Given the description of an element on the screen output the (x, y) to click on. 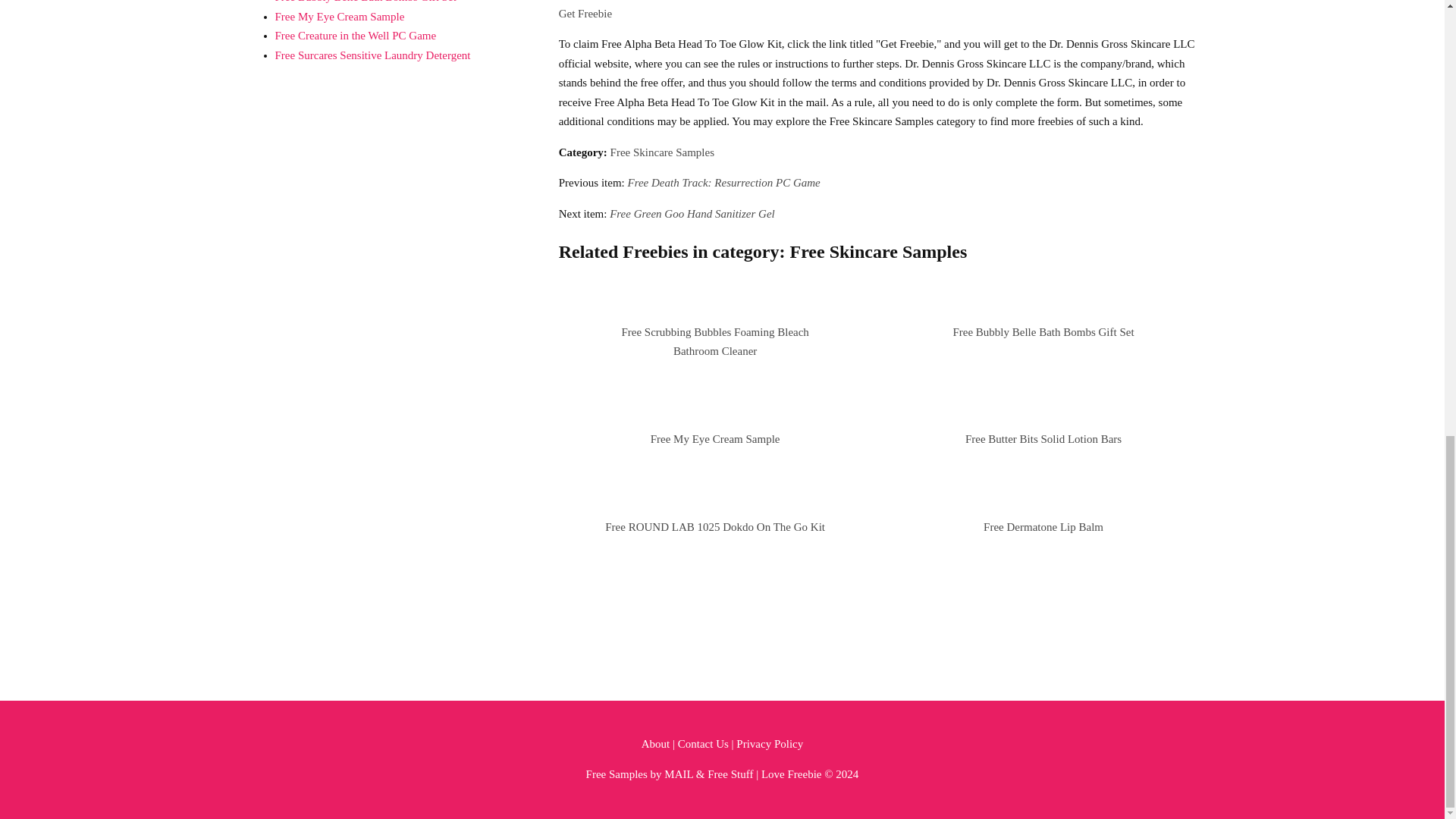
Free Death Track: Resurrection PC Game (724, 182)
Free Butter Bits Solid Lotion Bars (1043, 439)
Free Bubbly Belle Bath Bombs Gift Set (1043, 331)
Free Scrubbing Bubbles Foaming Bleach Bathroom Cleaner (714, 341)
Get Freebie (585, 13)
Free Dermatone Lip Balm (1043, 526)
Free My Eye Cream Sample (715, 439)
Free Green Goo Hand Sanitizer Gel (692, 214)
Free Skincare Samples (662, 152)
Free ROUND LAB 1025 Dokdo On The Go Kit (715, 526)
